Given the description of an element on the screen output the (x, y) to click on. 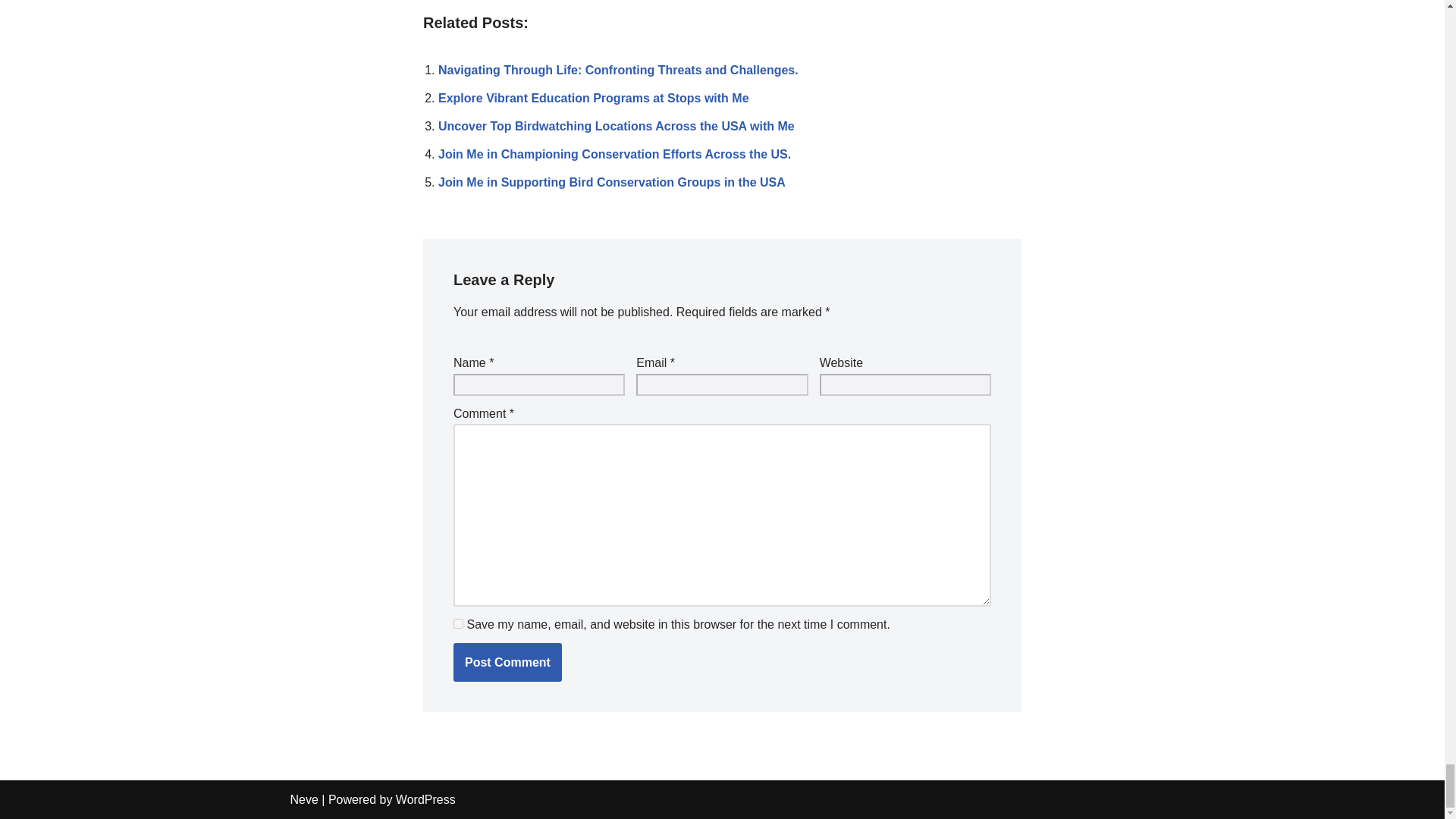
Explore Vibrant Education Programs at Stops with Me (593, 97)
Uncover Top Birdwatching Locations Across the USA with Me (616, 125)
Navigating Through Life: Confronting Threats and Challenges. (617, 69)
Join Me in Supporting Bird Conservation Groups in the USA (612, 182)
Join Me in Championing Conservation Efforts Across the US. (614, 154)
Explore Vibrant Education Programs at Stops with Me (593, 97)
Join Me in Supporting Bird Conservation Groups in the USA (612, 182)
Post Comment (507, 662)
yes (457, 623)
Uncover Top Birdwatching Locations Across the USA with Me (616, 125)
Navigating Through Life: Confronting Threats and Challenges. (617, 69)
Post Comment (507, 662)
Join Me in Championing Conservation Efforts Across the US. (614, 154)
